Given the description of an element on the screen output the (x, y) to click on. 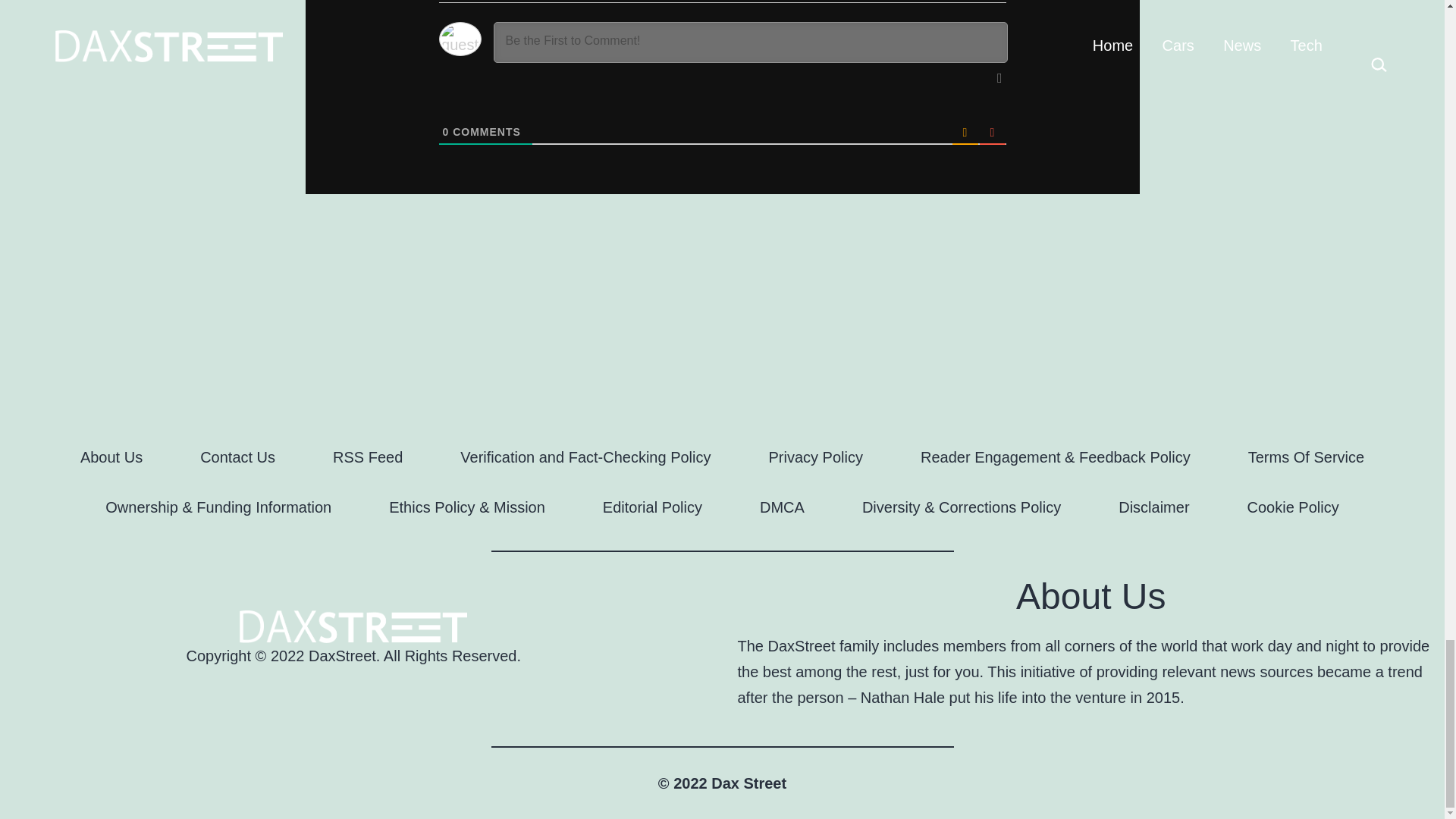
Privacy Policy (815, 456)
Disclaimer (1153, 506)
RSS Feed (367, 456)
About Us (111, 456)
Cookie Policy (1292, 506)
Contact Us (236, 456)
Terms Of Service (1305, 456)
Editorial Policy (652, 506)
DMCA (781, 506)
Verification and Fact-Checking Policy (585, 456)
